Given the description of an element on the screen output the (x, y) to click on. 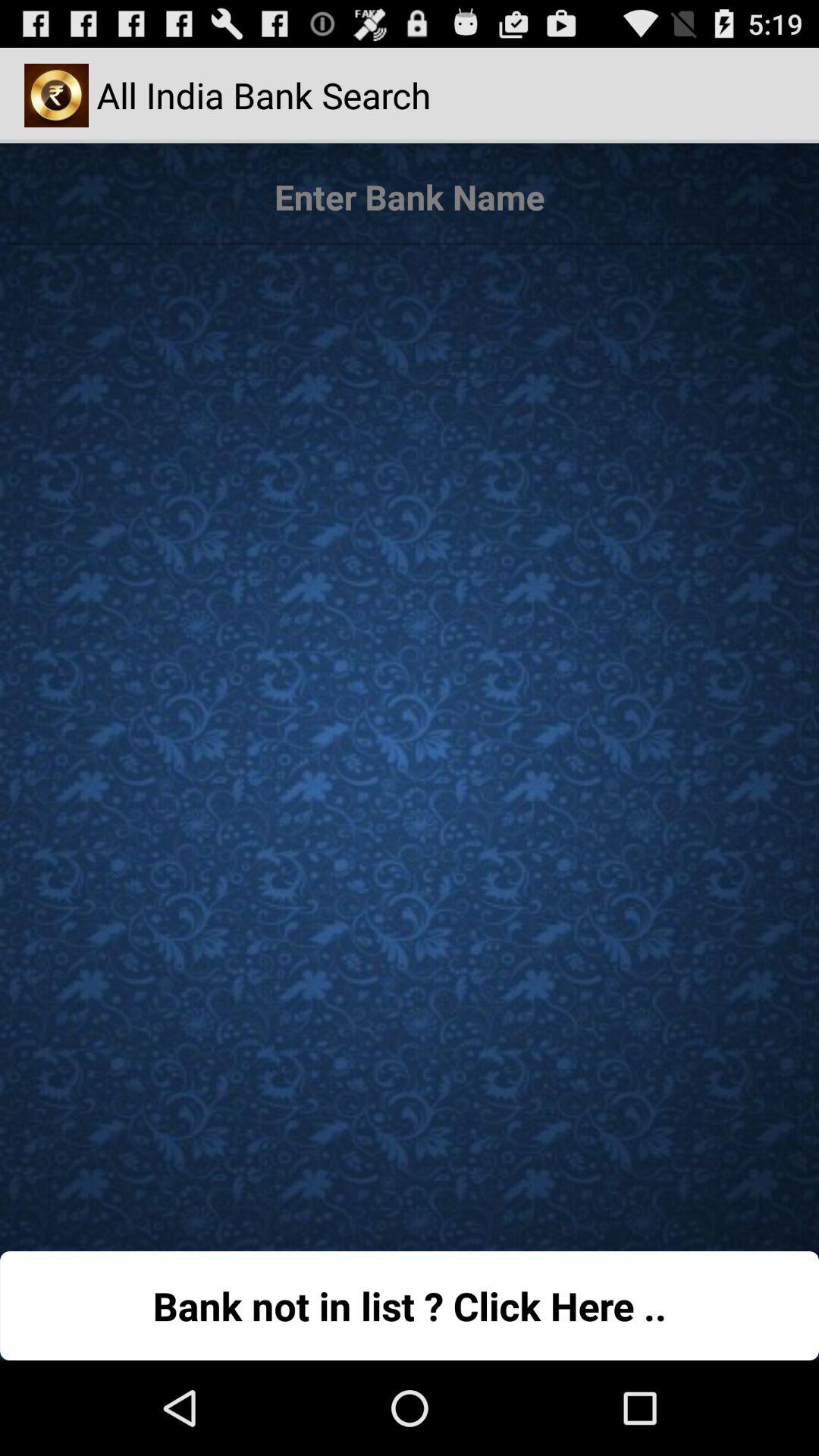
enter bank name (409, 197)
